Given the description of an element on the screen output the (x, y) to click on. 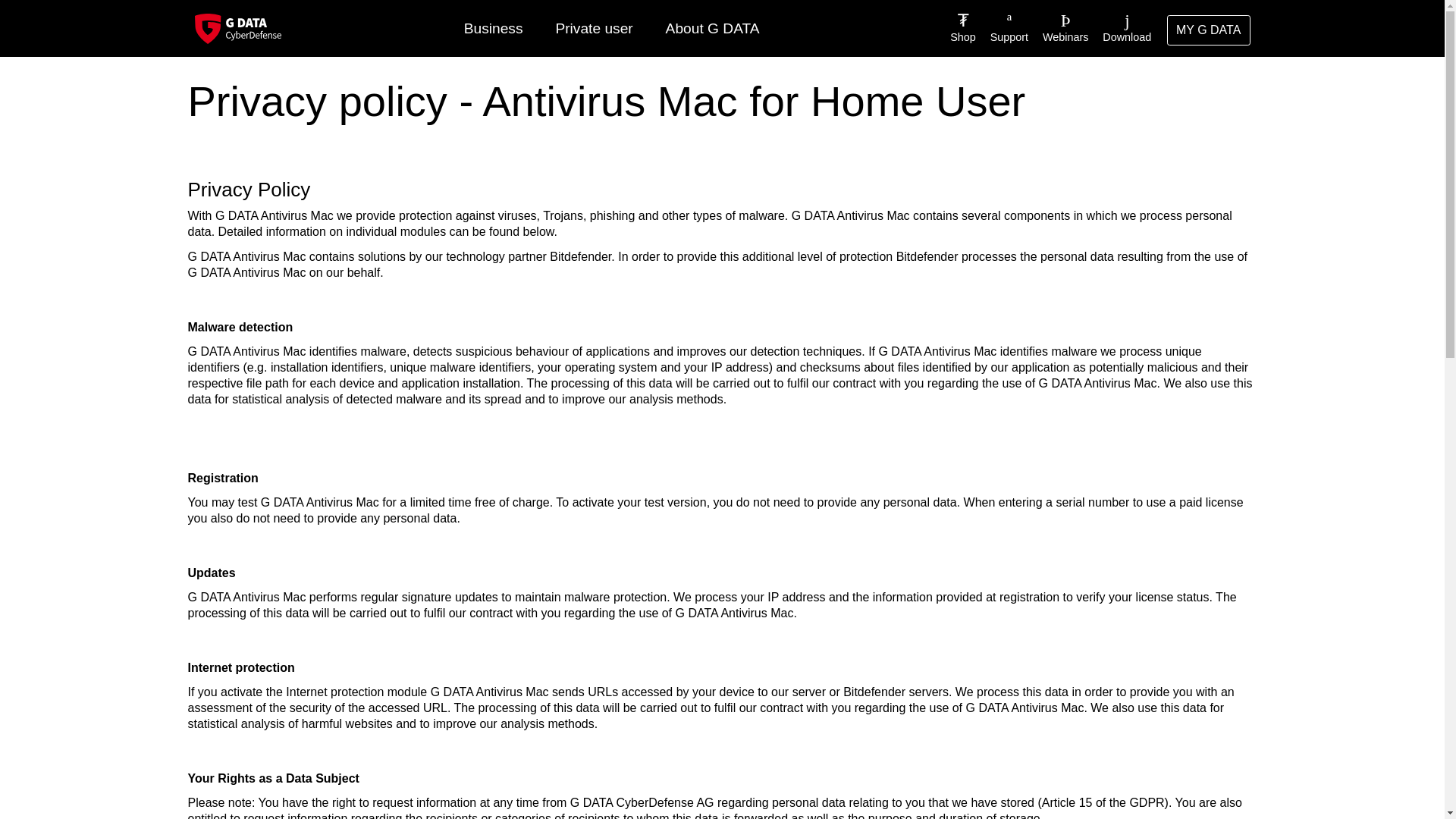
About G DATA (711, 28)
Webinars (1060, 28)
Business (492, 28)
Support (1002, 28)
Download (1121, 28)
Private user (593, 28)
MY G DATA (1208, 30)
